Given the description of an element on the screen output the (x, y) to click on. 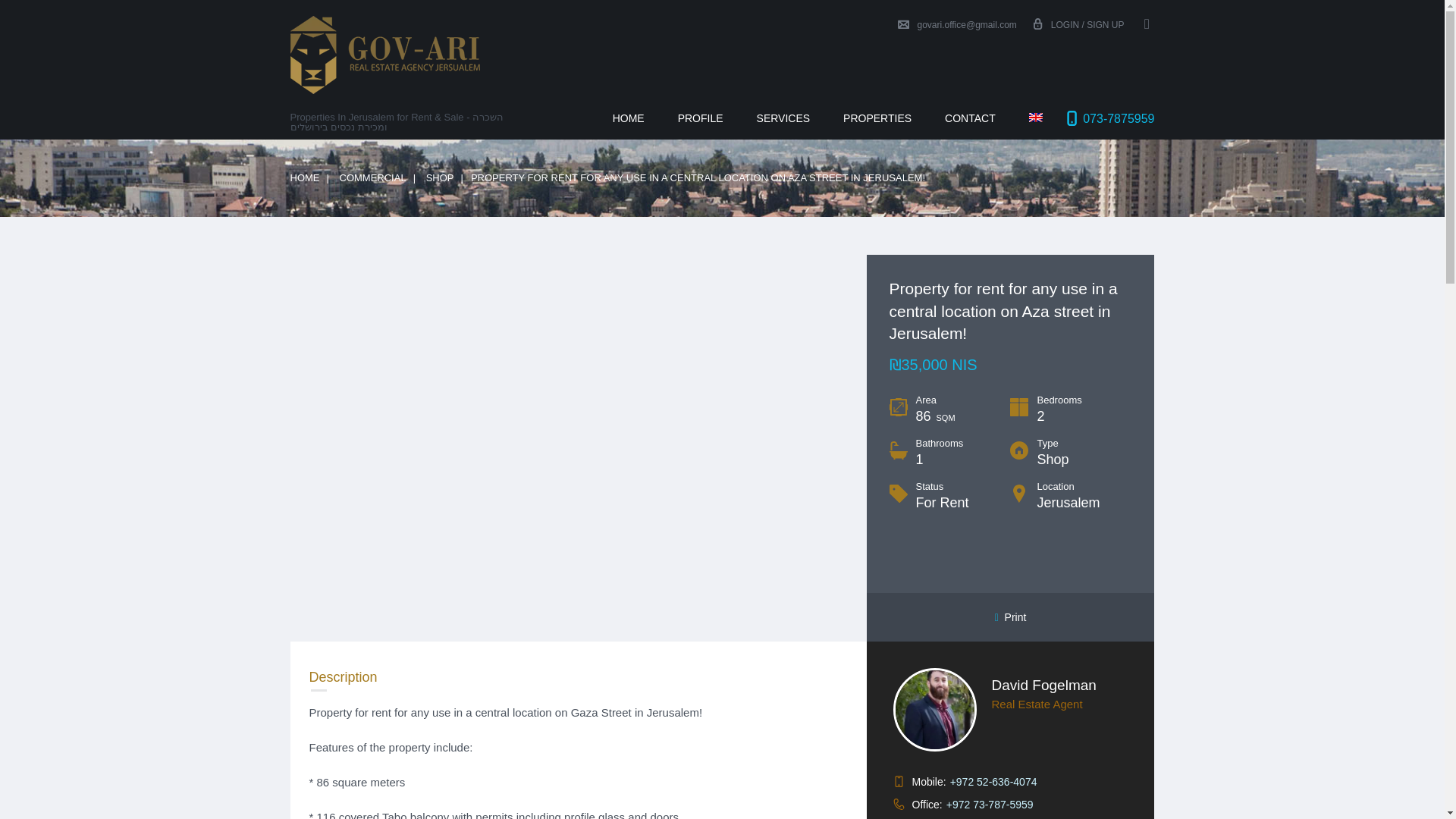
HOME (628, 118)
COMMERCIAL (372, 177)
SERVICES (783, 118)
Make a Call (989, 804)
CONTACT (969, 118)
HOME (303, 177)
Make a Call (993, 781)
PROFILE (700, 118)
PROPERTIES (877, 118)
073-7875959 (1118, 118)
SHOP (440, 177)
  Print (1010, 616)
